Given the description of an element on the screen output the (x, y) to click on. 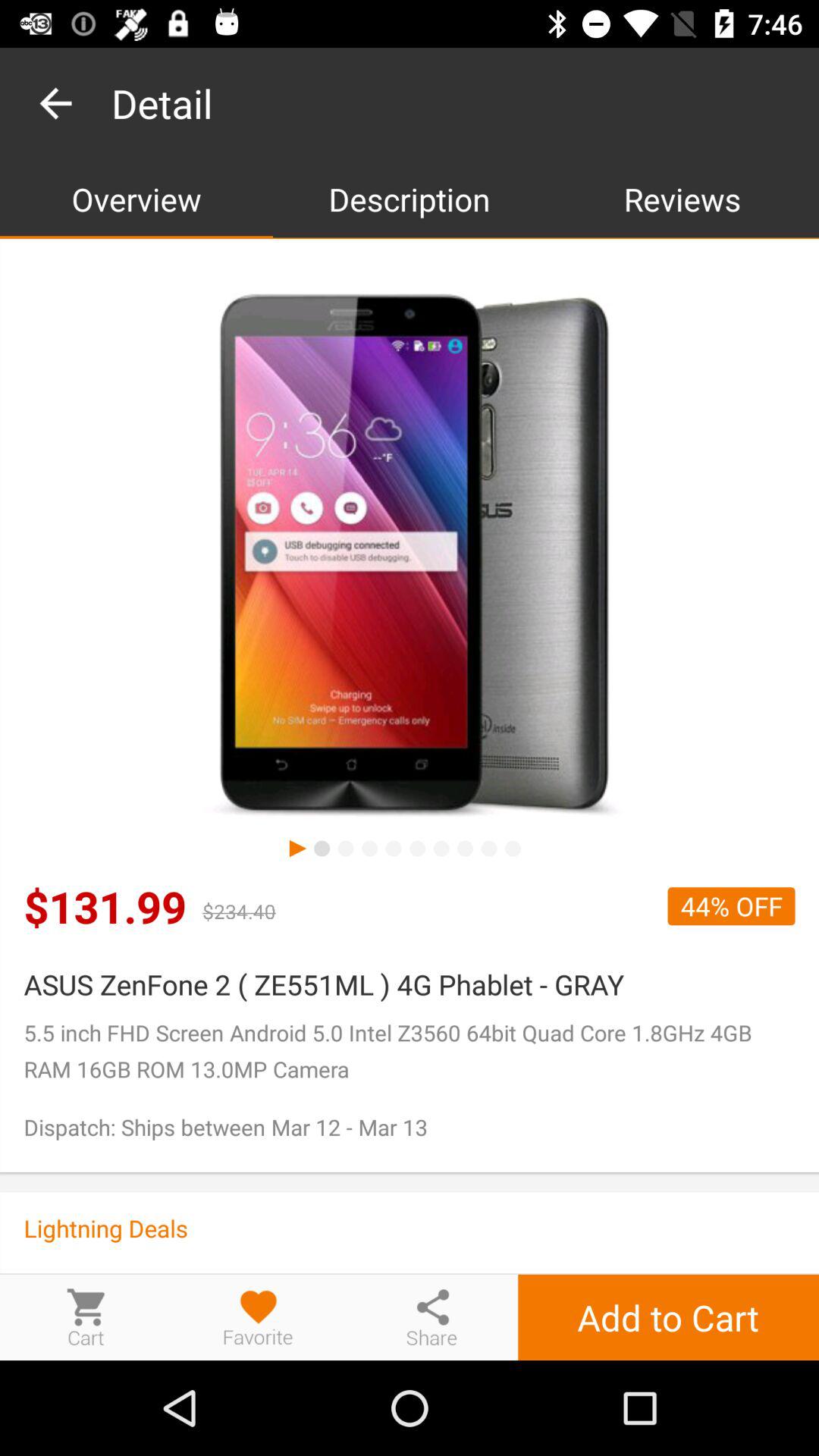
select the icon next to overview item (409, 198)
